Given the description of an element on the screen output the (x, y) to click on. 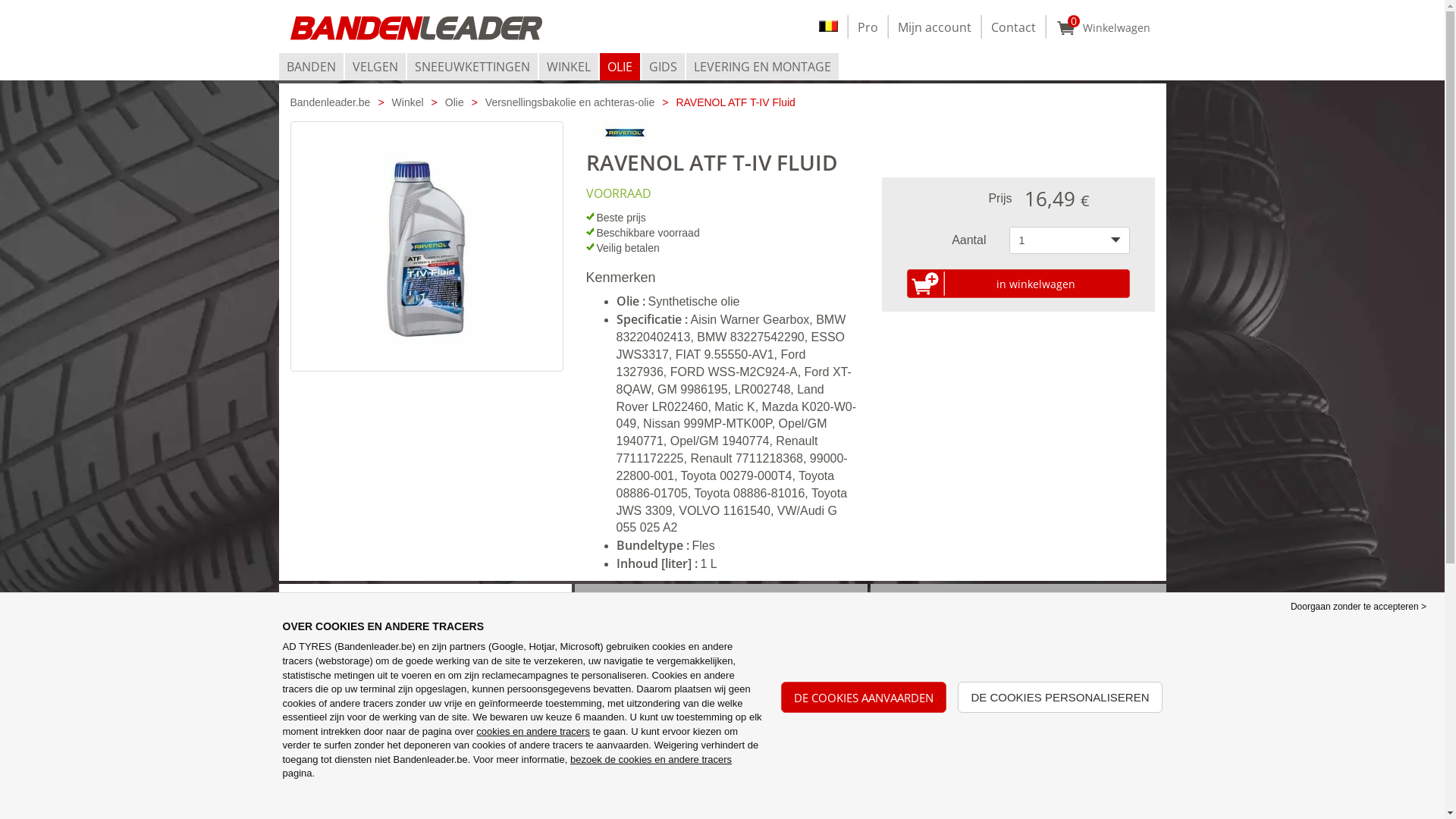
Pro Element type: text (866, 26)
Reviews Element type: text (324, 774)
Aanbieding Element type: text (331, 792)
SNEEUWKETTINGEN Element type: text (471, 66)
Contact Element type: text (1012, 26)
Winkel Element type: text (607, 809)
Bandenleader.be Element type: text (329, 102)
Stalen velgen Element type: text (626, 757)
0
Winkelwagen Element type: text (1102, 27)
VELGEN Element type: text (374, 66)
Winkel Element type: text (407, 102)
RAVENOL ATF T-IV Fluid Element type: text (734, 102)
DE COOKIES AANVAARDEN Element type: text (863, 696)
Versnellingsbakolie en achteras-olie Element type: text (569, 102)
DE COOKIES PERSONALISEREN Element type: text (1059, 696)
Bandenhandleiding Element type: text (353, 757)
GIDS Element type: text (663, 66)
bezoek de cookies en andere tracers Element type: text (650, 759)
BANDEN Element type: text (310, 66)
WINKEL Element type: text (567, 66)
Garage registreren Element type: text (352, 809)
cookies en andere tracers Element type: text (532, 731)
Aluminium velgen Element type: text (637, 774)
in winkelwagen Element type: text (1017, 283)
Autobanden Element type: text (622, 740)
LEVERING EN MONTAGE Element type: text (761, 66)
Sneeuwkettingen Element type: text (636, 792)
Bandengarantie Element type: text (344, 740)
Olie Element type: text (454, 102)
OLIE Element type: text (618, 66)
Mijn account Element type: text (934, 26)
Doorgaan zonder te accepteren > Element type: text (1358, 606)
